Given the description of an element on the screen output the (x, y) to click on. 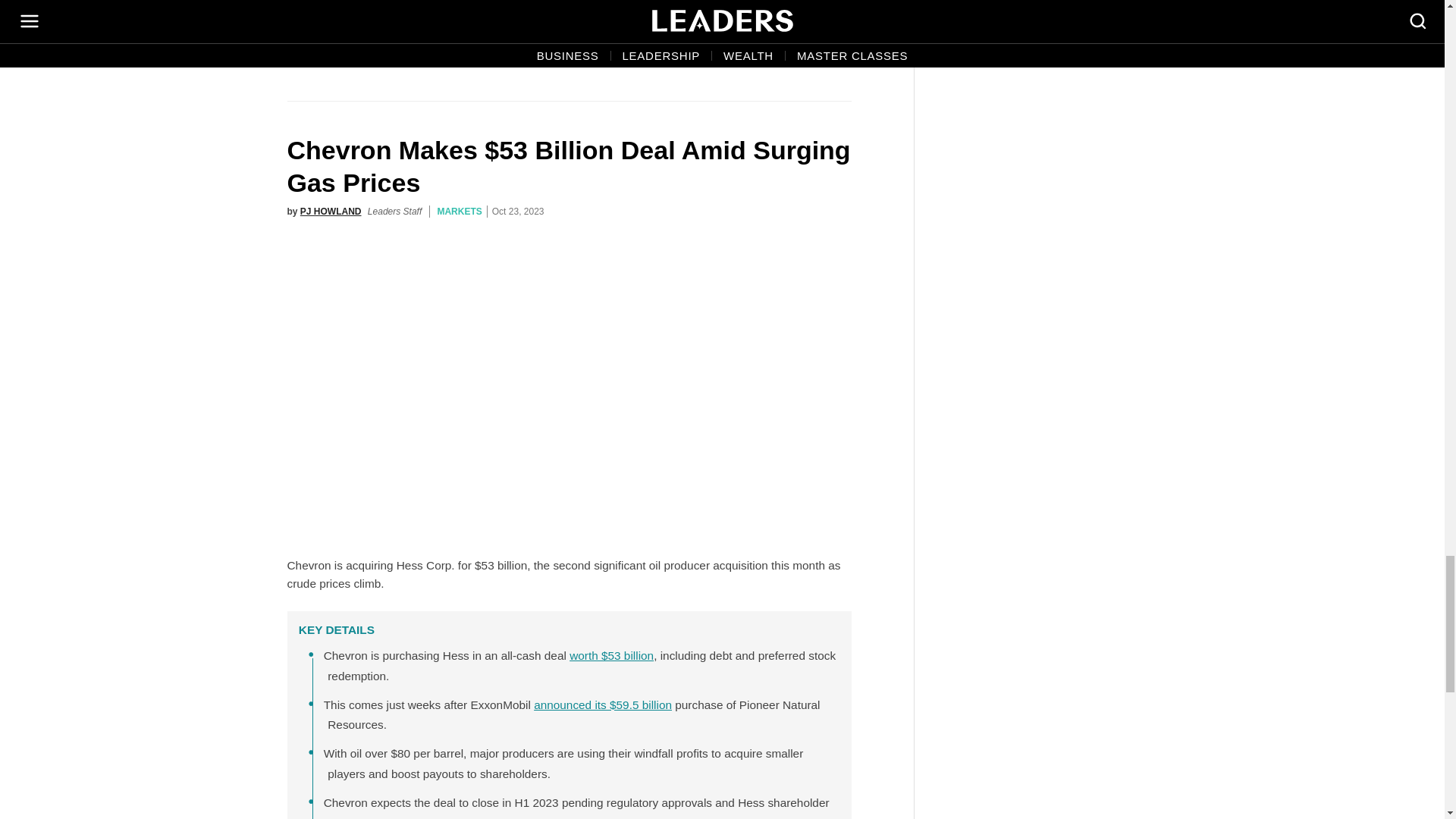
Share on Twitter (770, 55)
Share on LinkedIn (835, 55)
Share via Email (803, 55)
Share on Facebook (738, 55)
